Given the description of an element on the screen output the (x, y) to click on. 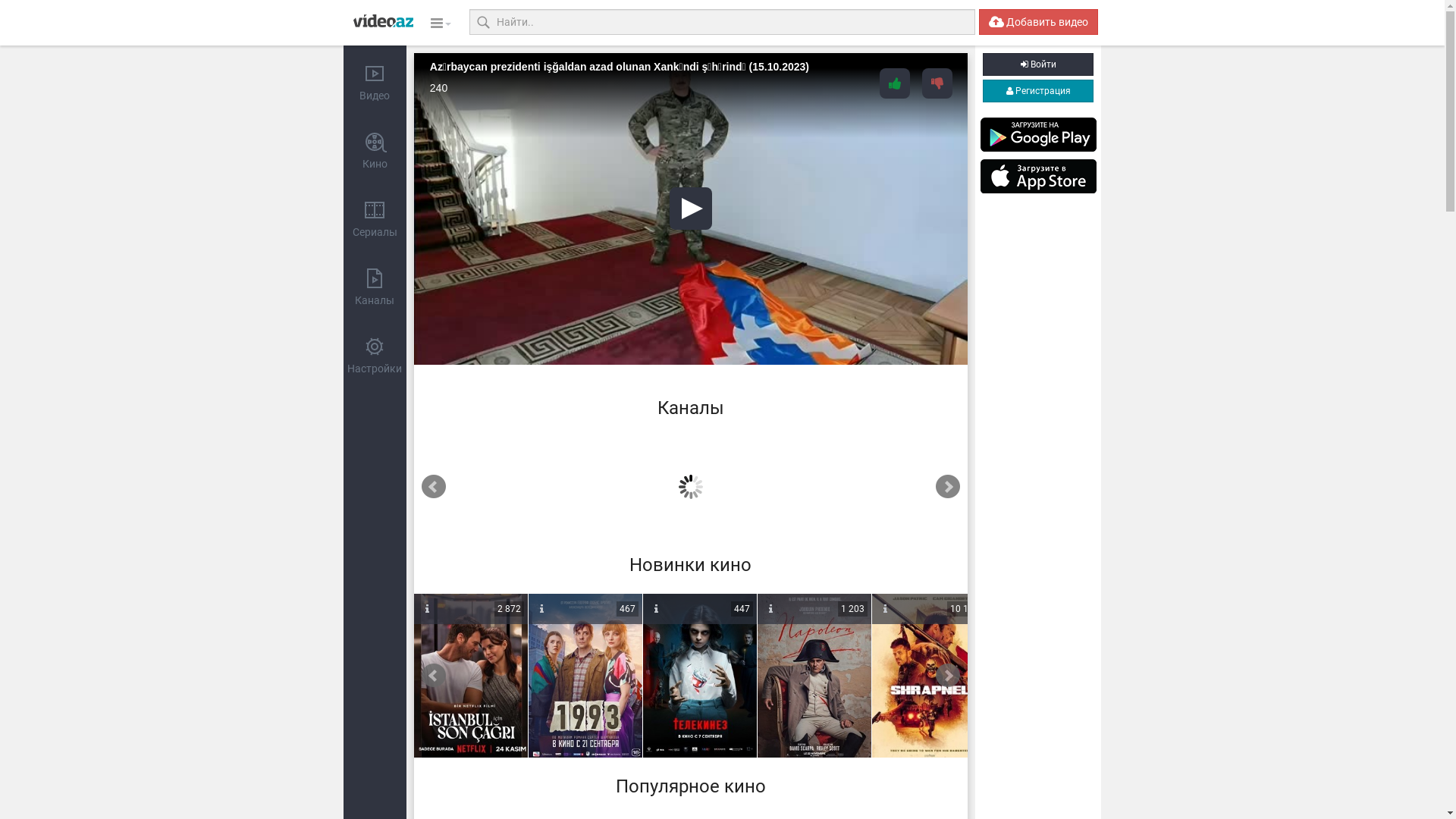
1993 (2023) HDRip Element type: hover (585, 675)
Next Element type: text (947, 486)
Prev Element type: text (433, 486)
Autograph magazine Element type: hover (527, 482)
Next Element type: text (947, 675)
Prev Element type: text (433, 675)
